Given the description of an element on the screen output the (x, y) to click on. 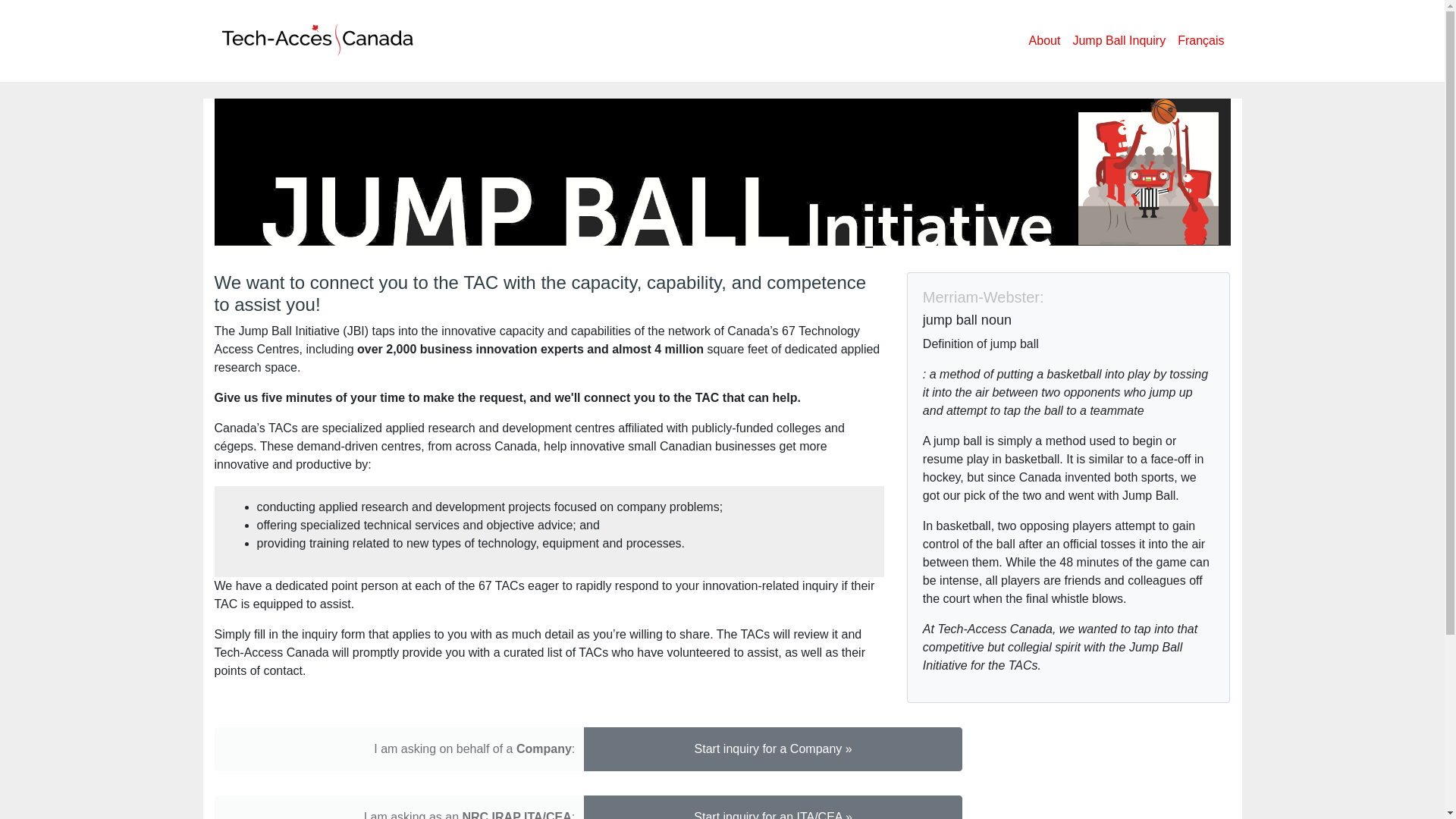
About (1045, 40)
Jump Ball Inquiry (1118, 40)
I am asking on behalf of a Company: (399, 749)
